Given the description of an element on the screen output the (x, y) to click on. 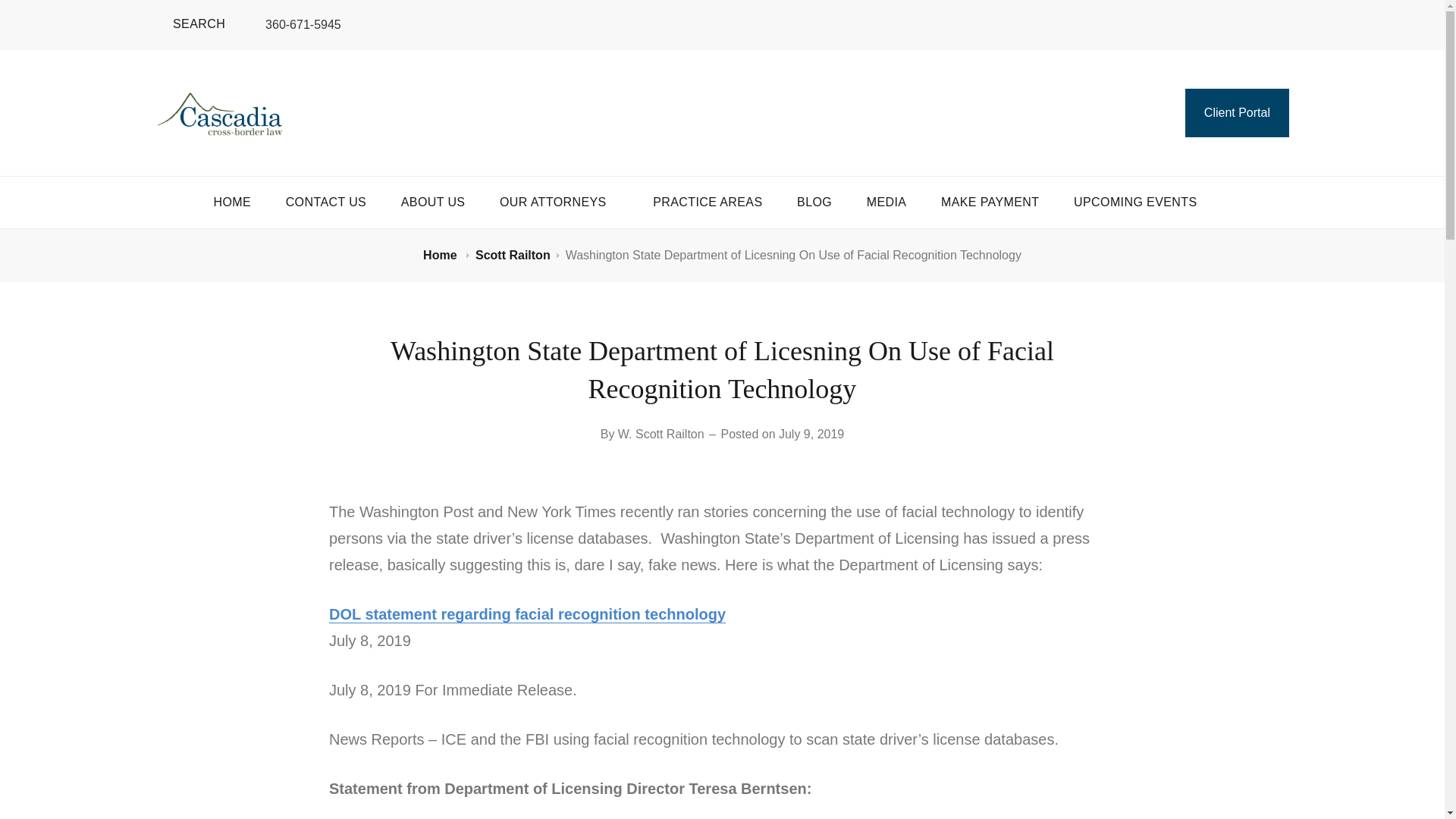
MEDIA (886, 202)
SEARCH (189, 24)
DOL statement regarding facial recognition technology (527, 614)
Scott Railton (513, 254)
360-671-5945 (293, 24)
CONTACT US (325, 202)
July 9, 2019 (811, 433)
MAKE PAYMENT (990, 202)
OUR ATTORNEYS (558, 202)
Home (441, 254)
